Given the description of an element on the screen output the (x, y) to click on. 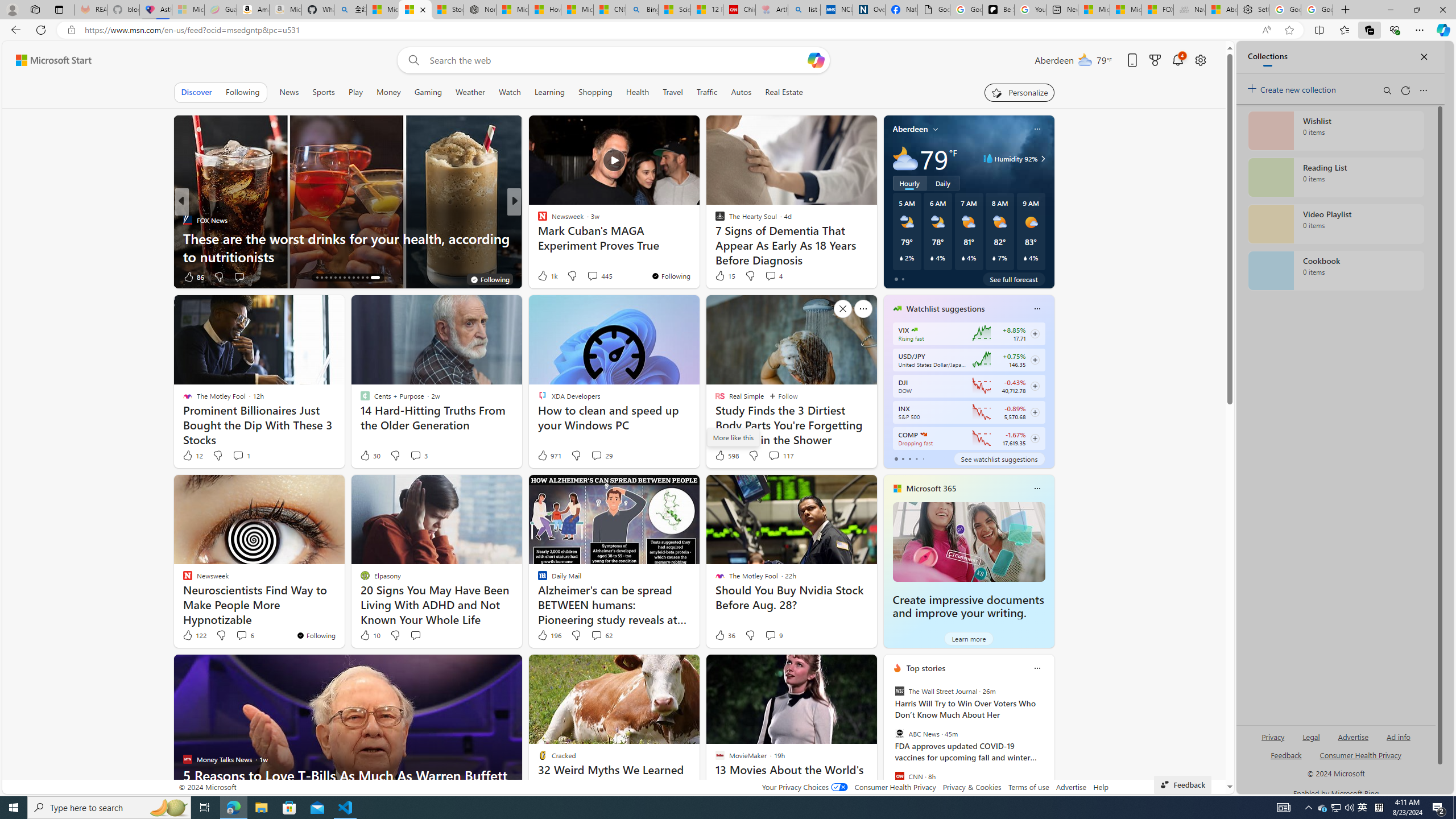
Class: weather-arrow-glyph (1043, 158)
Arthritis: Ask Health Professionals - Sleeping (772, 9)
Terms of use (1028, 786)
86 Like (192, 276)
You're following FOX News (488, 279)
971 Like (548, 455)
12 Popular Science Lies that Must be Corrected (706, 9)
Class: weather-current-precipitation-glyph (1024, 257)
